Given the description of an element on the screen output the (x, y) to click on. 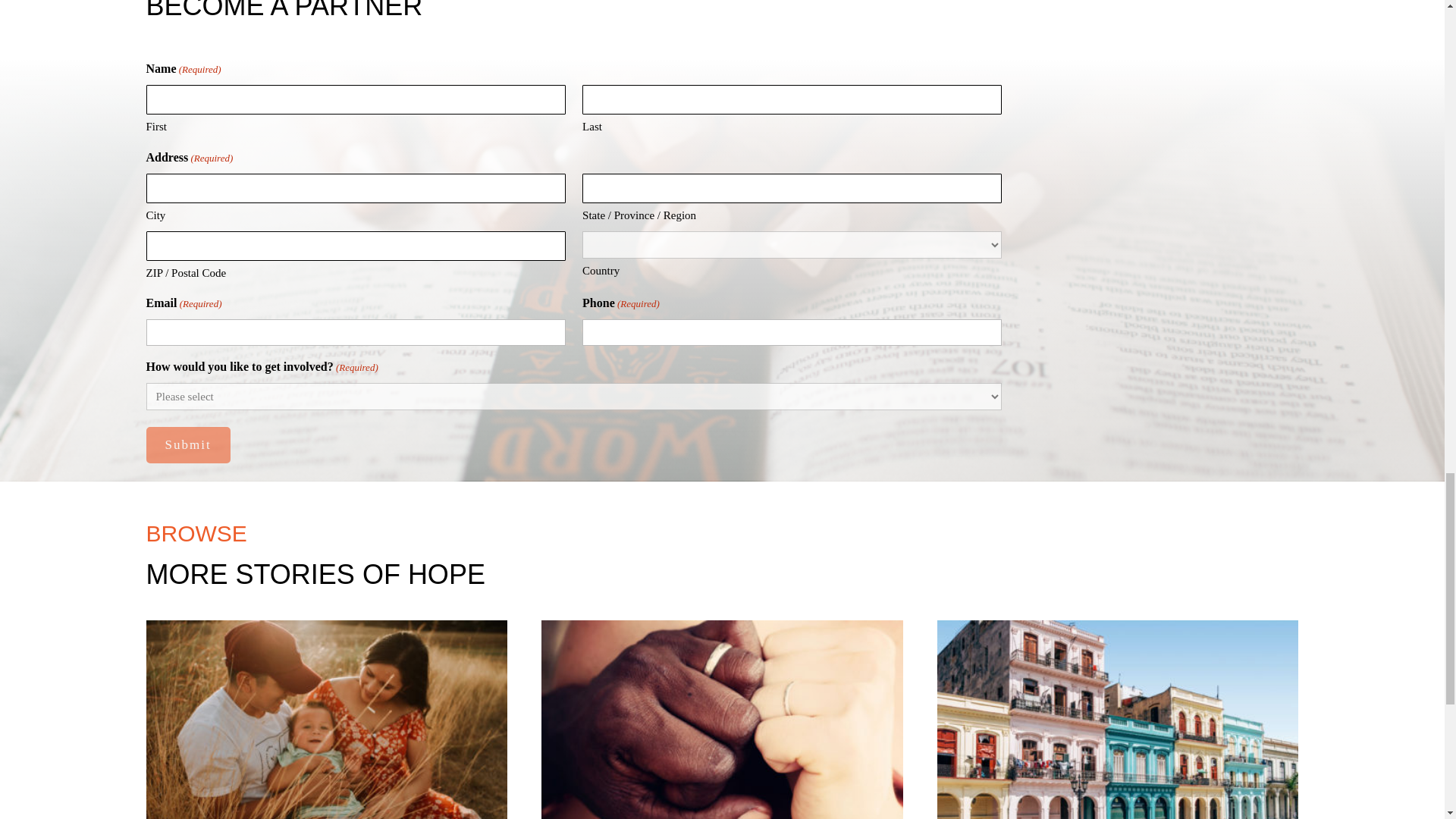
Submit (187, 444)
Submit (187, 444)
